Given the description of an element on the screen output the (x, y) to click on. 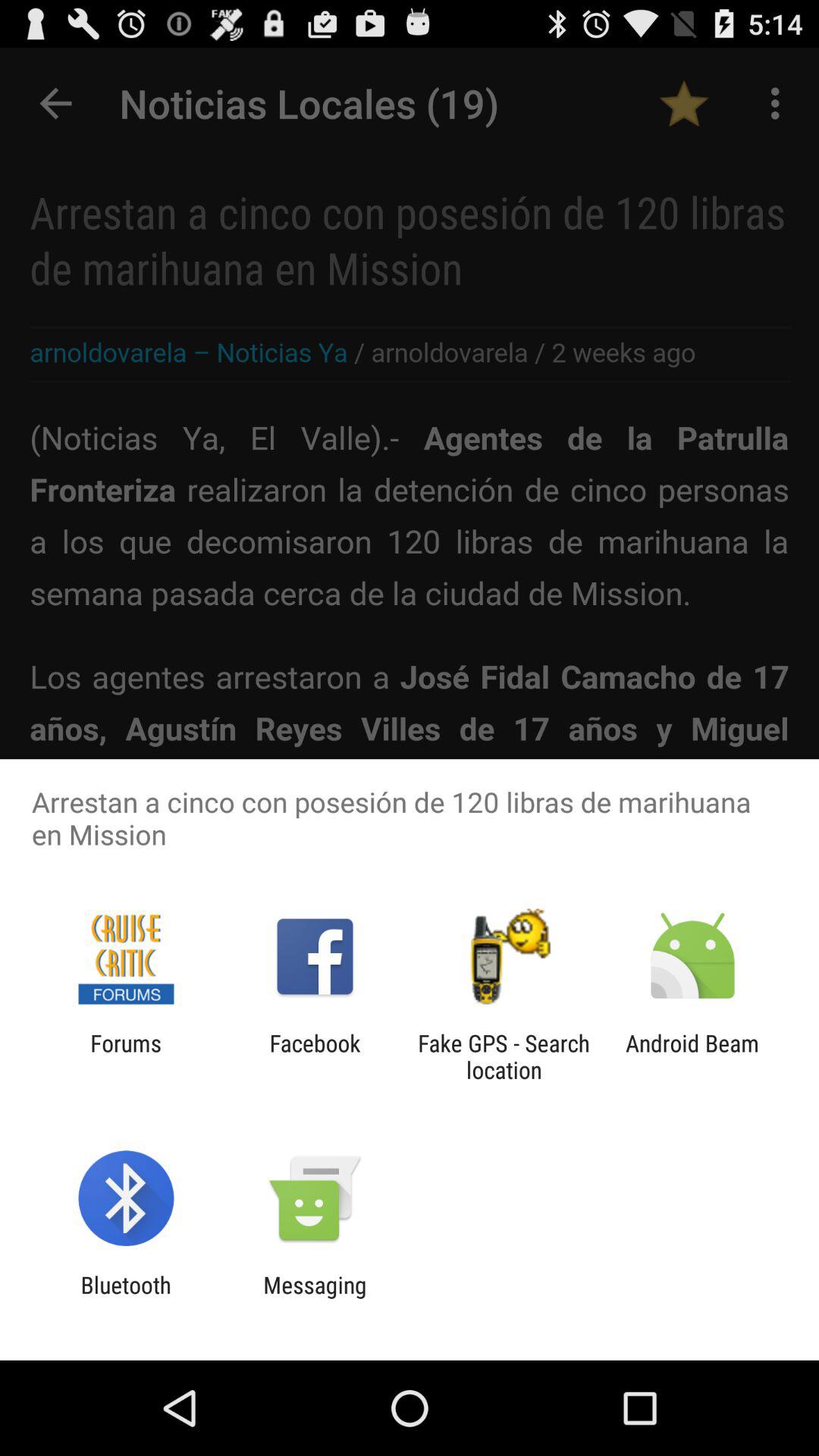
turn off the bluetooth (125, 1298)
